Given the description of an element on the screen output the (x, y) to click on. 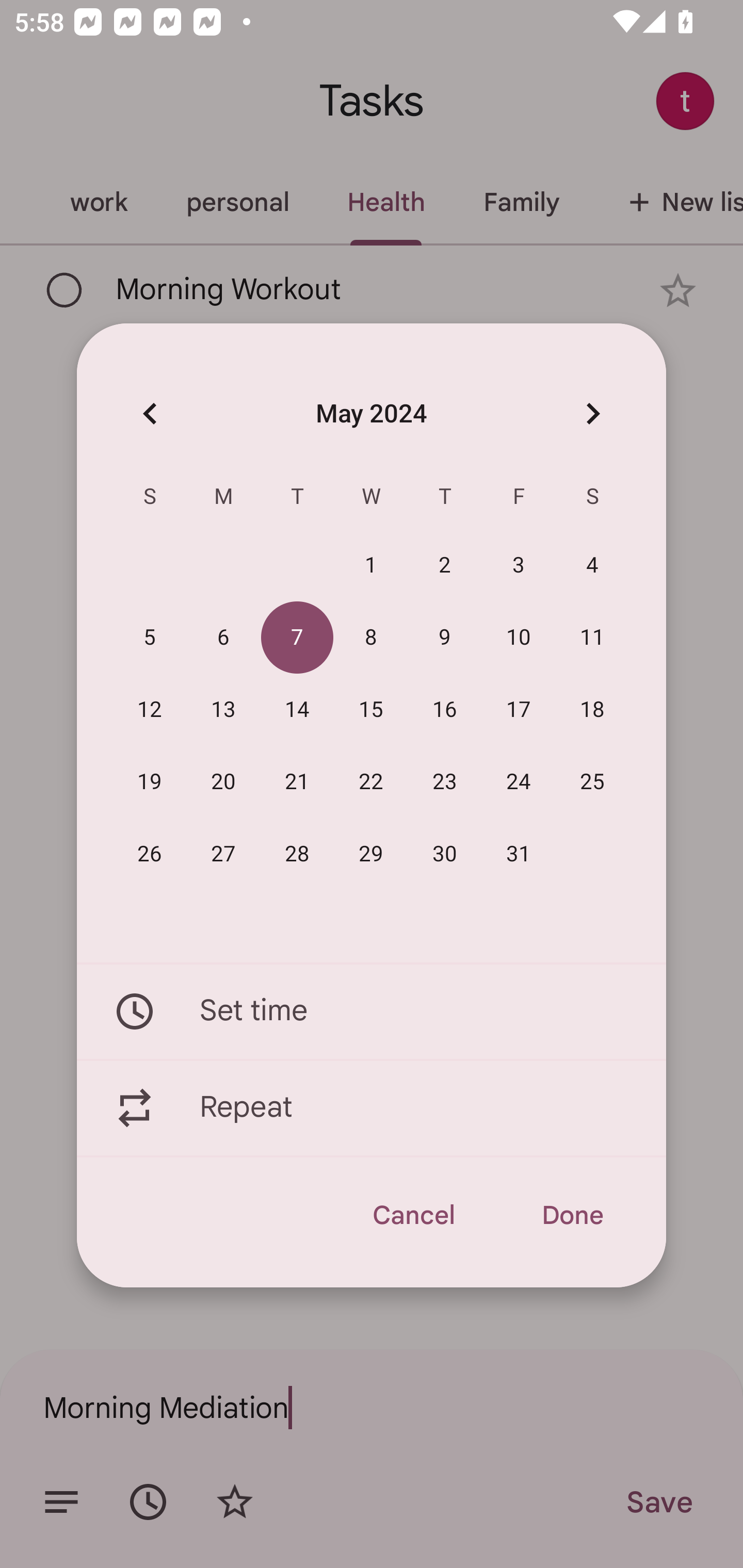
Previous month (149, 413)
Next month (592, 413)
1 01 May 2024 (370, 565)
2 02 May 2024 (444, 565)
3 03 May 2024 (518, 565)
4 04 May 2024 (592, 565)
5 05 May 2024 (149, 638)
6 06 May 2024 (223, 638)
7 07 May 2024 (297, 638)
8 08 May 2024 (370, 638)
9 09 May 2024 (444, 638)
10 10 May 2024 (518, 638)
11 11 May 2024 (592, 638)
12 12 May 2024 (149, 710)
13 13 May 2024 (223, 710)
14 14 May 2024 (297, 710)
15 15 May 2024 (370, 710)
16 16 May 2024 (444, 710)
17 17 May 2024 (518, 710)
18 18 May 2024 (592, 710)
19 19 May 2024 (149, 782)
20 20 May 2024 (223, 782)
21 21 May 2024 (297, 782)
22 22 May 2024 (370, 782)
23 23 May 2024 (444, 782)
24 24 May 2024 (518, 782)
25 25 May 2024 (592, 782)
26 26 May 2024 (149, 854)
27 27 May 2024 (223, 854)
28 28 May 2024 (297, 854)
29 29 May 2024 (370, 854)
30 30 May 2024 (444, 854)
31 31 May 2024 (518, 854)
Set time (371, 1011)
Repeat (371, 1108)
Cancel (412, 1215)
Done (571, 1215)
